Given the description of an element on the screen output the (x, y) to click on. 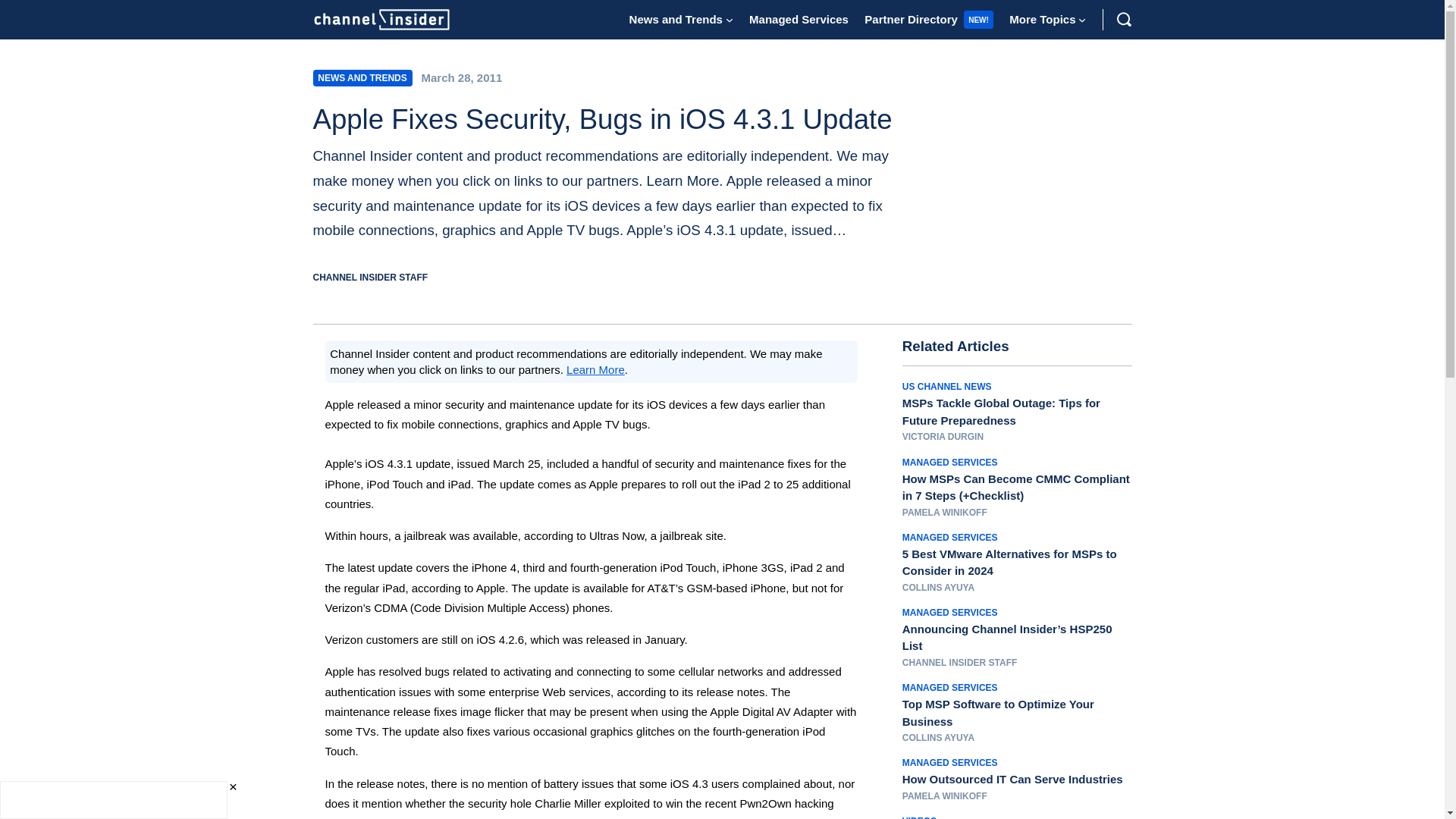
VICTORIA DURGIN (943, 436)
MANAGED SERVICES (949, 537)
Learn More (595, 369)
Managed Services (798, 19)
More Topics (1042, 19)
Partner Directory (911, 19)
US CHANNEL NEWS (946, 386)
MSPs Tackle Global Outage: Tips for Future Preparedness (1017, 411)
PAMELA WINIKOFF (944, 511)
MANAGED SERVICES (949, 462)
